Given the description of an element on the screen output the (x, y) to click on. 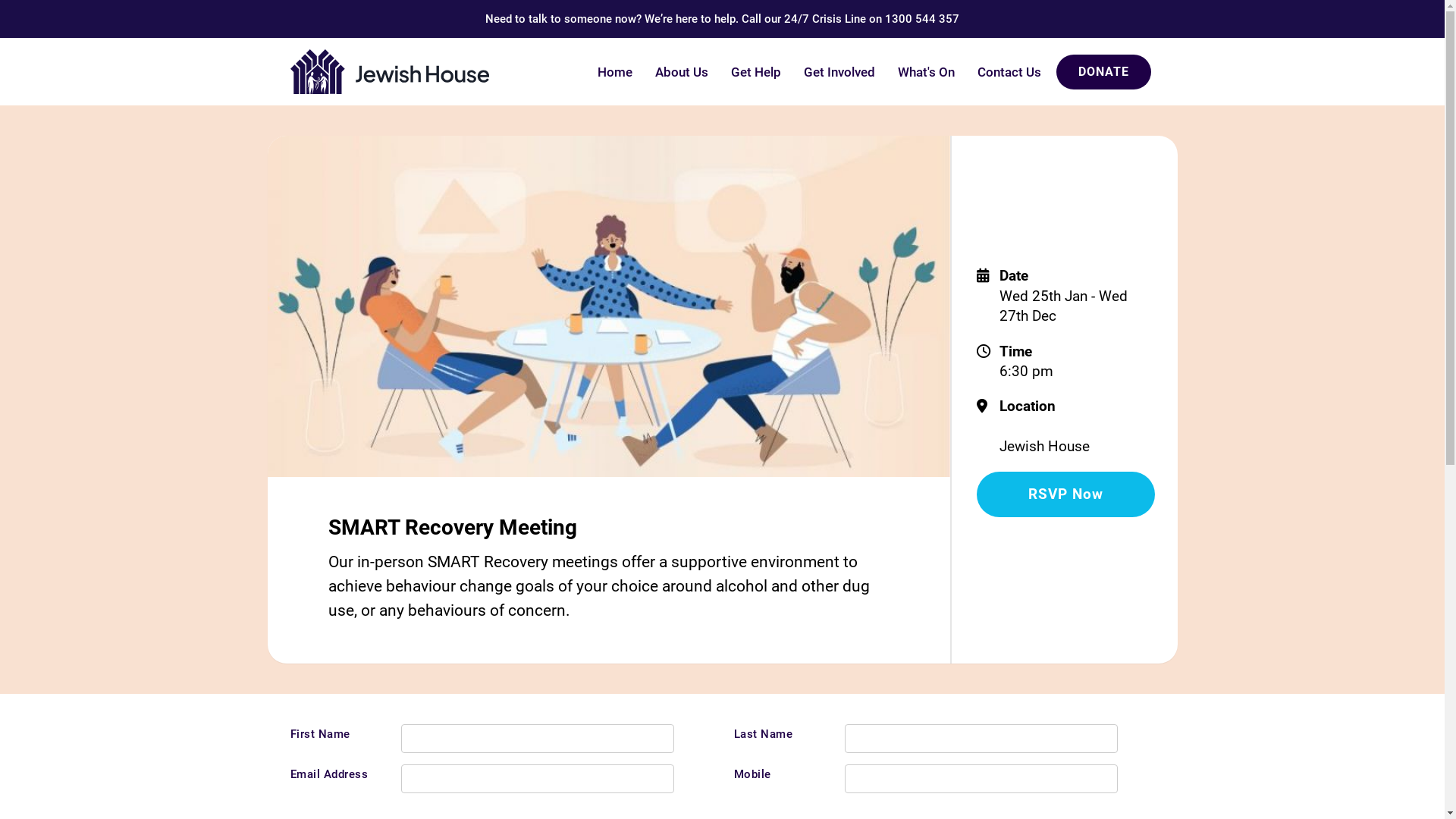
Get Help Element type: text (754, 72)
Home Element type: text (614, 72)
RSVP Now Element type: text (1065, 494)
About Us Element type: text (680, 72)
What's On Element type: text (925, 72)
Contact Us Element type: text (1009, 72)
Get Involved Element type: text (838, 72)
DONATE Element type: text (1102, 71)
